Given the description of an element on the screen output the (x, y) to click on. 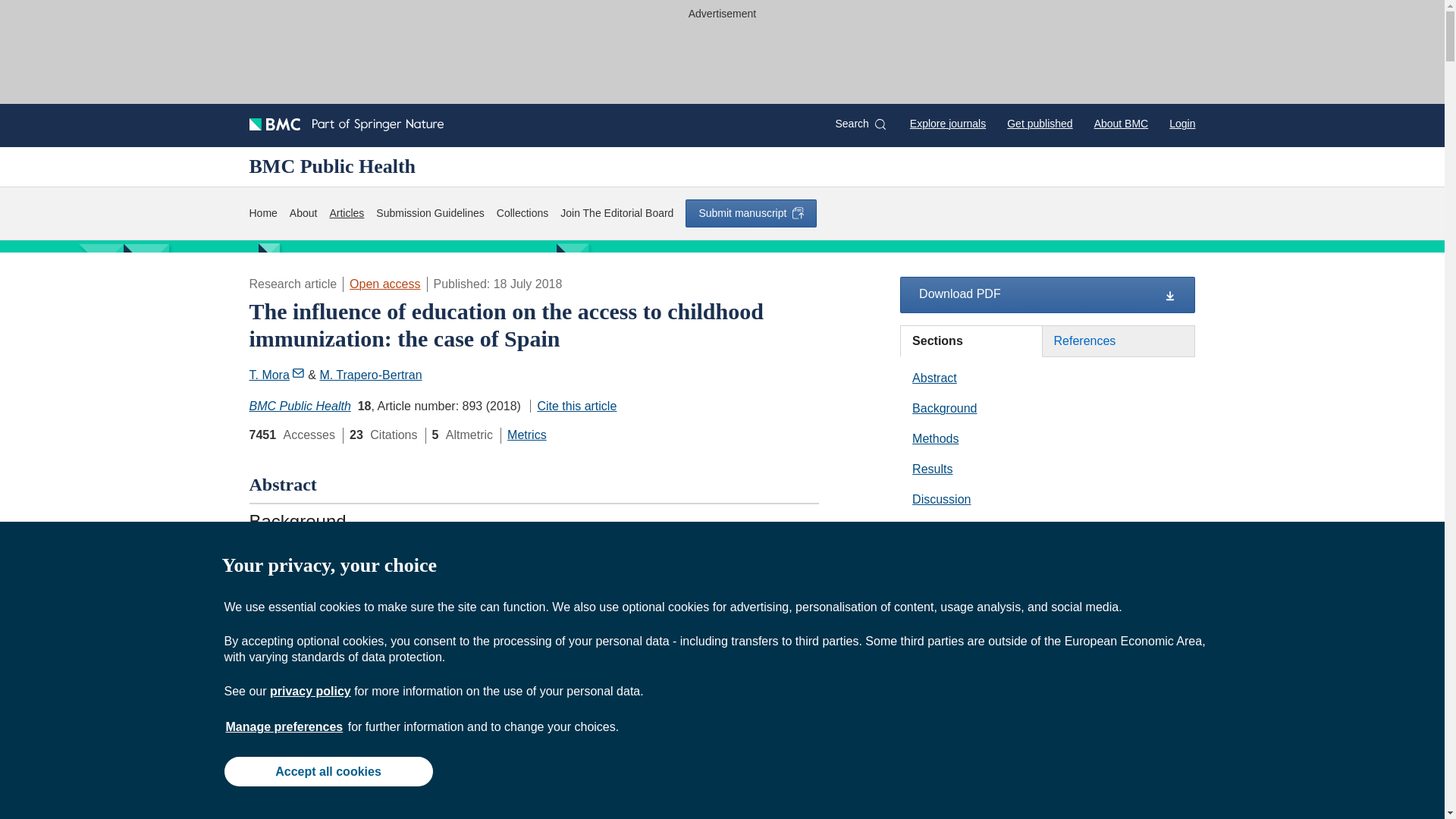
Search (859, 123)
Metrics (526, 434)
privacy policy (309, 690)
Accept all cookies (328, 771)
Get published (1039, 123)
Cite this article (572, 405)
About (303, 212)
BMC Public Health (299, 405)
Open access (384, 283)
Submit manuscript (750, 212)
